Given the description of an element on the screen output the (x, y) to click on. 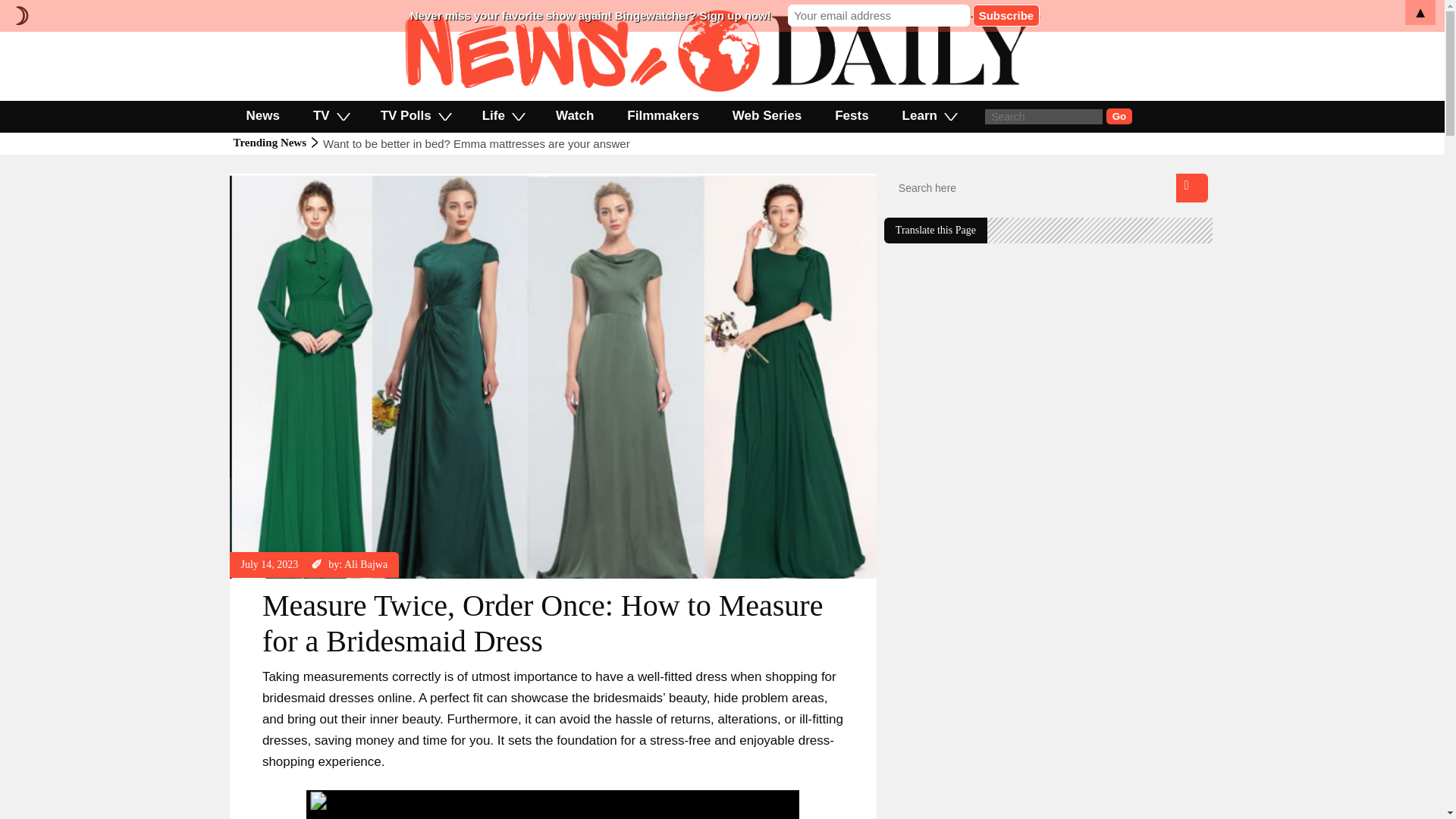
Fests (851, 115)
News (261, 115)
July 14, 2023 (269, 564)
Filmmakers (663, 115)
TV Polls (414, 115)
Go (1119, 116)
Learn (928, 115)
Go (1119, 116)
Fashion (258, 180)
Go (1119, 116)
Web Series (767, 115)
Life (501, 115)
Watch (574, 115)
TV (330, 115)
Subscribe (1006, 15)
